Given the description of an element on the screen output the (x, y) to click on. 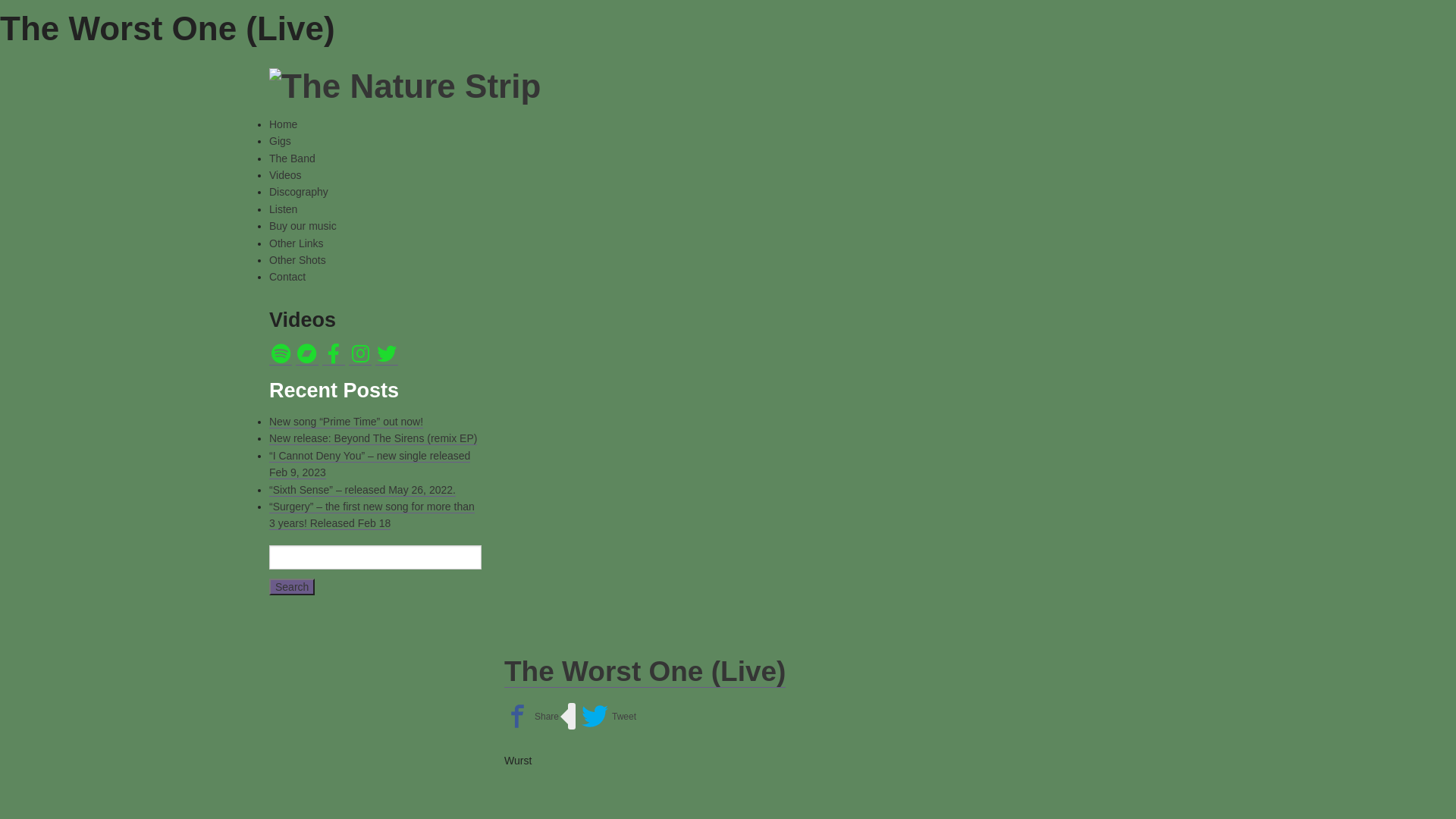
Share on Facebook Element type: hover (531, 715)
Contact Element type: text (287, 276)
The Nature Strip - The Worst One Element type: hover (773, 493)
Spotify Element type: hover (280, 353)
Videos Element type: text (285, 175)
The Band Element type: text (292, 158)
Other Links Element type: text (296, 243)
Discography Element type: text (298, 191)
Gigs Element type: text (280, 140)
New release: Beyond The Sirens (remix EP) Element type: text (372, 438)
Other Shots Element type: text (297, 260)
Home Element type: text (283, 124)
Search Element type: text (291, 586)
Listen Element type: text (283, 209)
Buy our music Element type: text (302, 225)
Tweet Element type: hover (608, 715)
The Worst One (Live) Element type: text (644, 671)
